Given the description of an element on the screen output the (x, y) to click on. 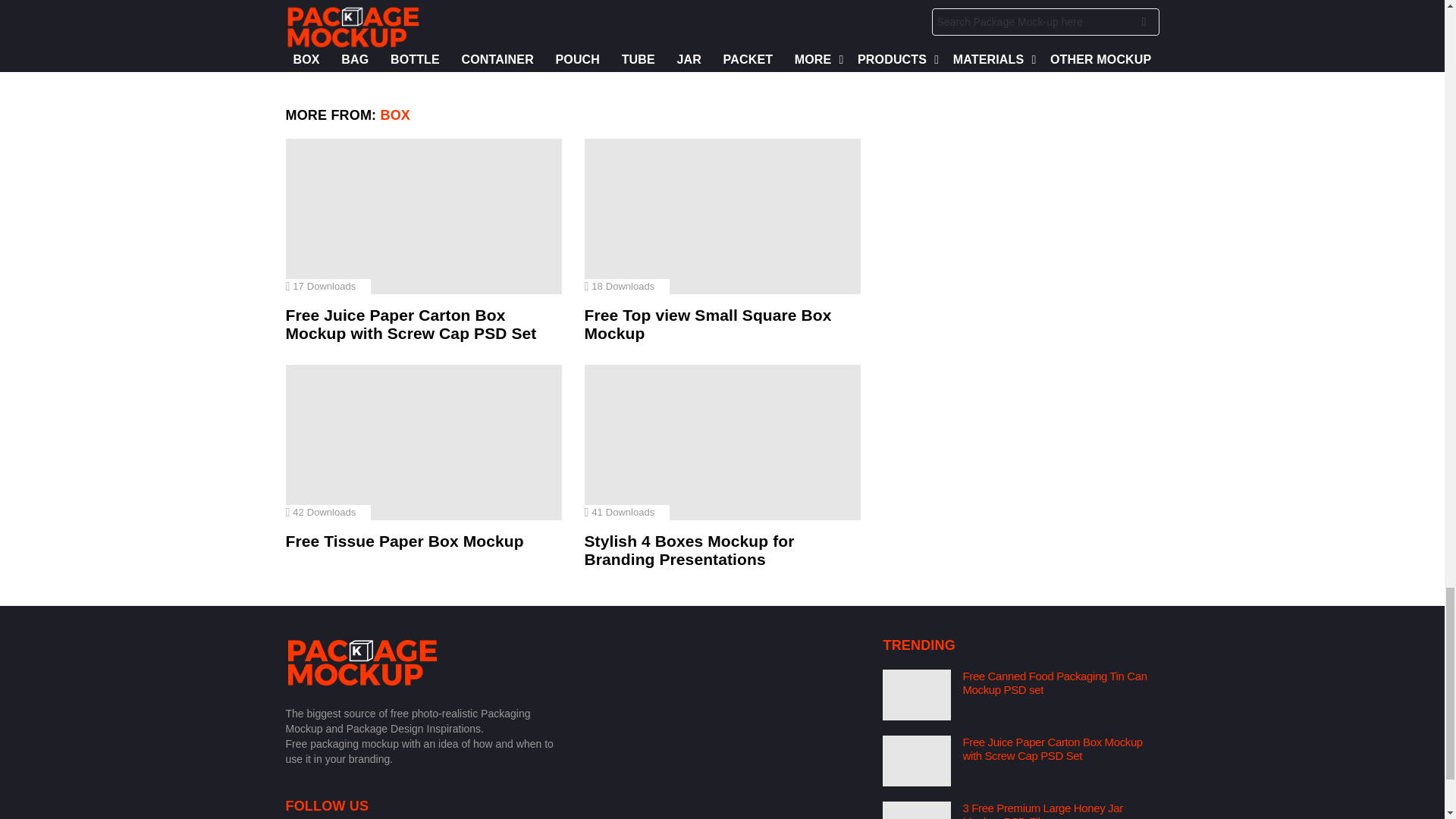
Free Round Food Tray Container Mockups 3 set (422, 2)
Stylish 4 Boxes Mockup for Branding Presentations (721, 442)
Free Packaging Meat Tray Mockup (721, 2)
Free Tissue Paper Box Mockup (422, 442)
Free Juice Paper Carton Box Mockup with Screw Cap PSD Set (422, 216)
Free Top view Small Square Box Mockup (721, 216)
